Given the description of an element on the screen output the (x, y) to click on. 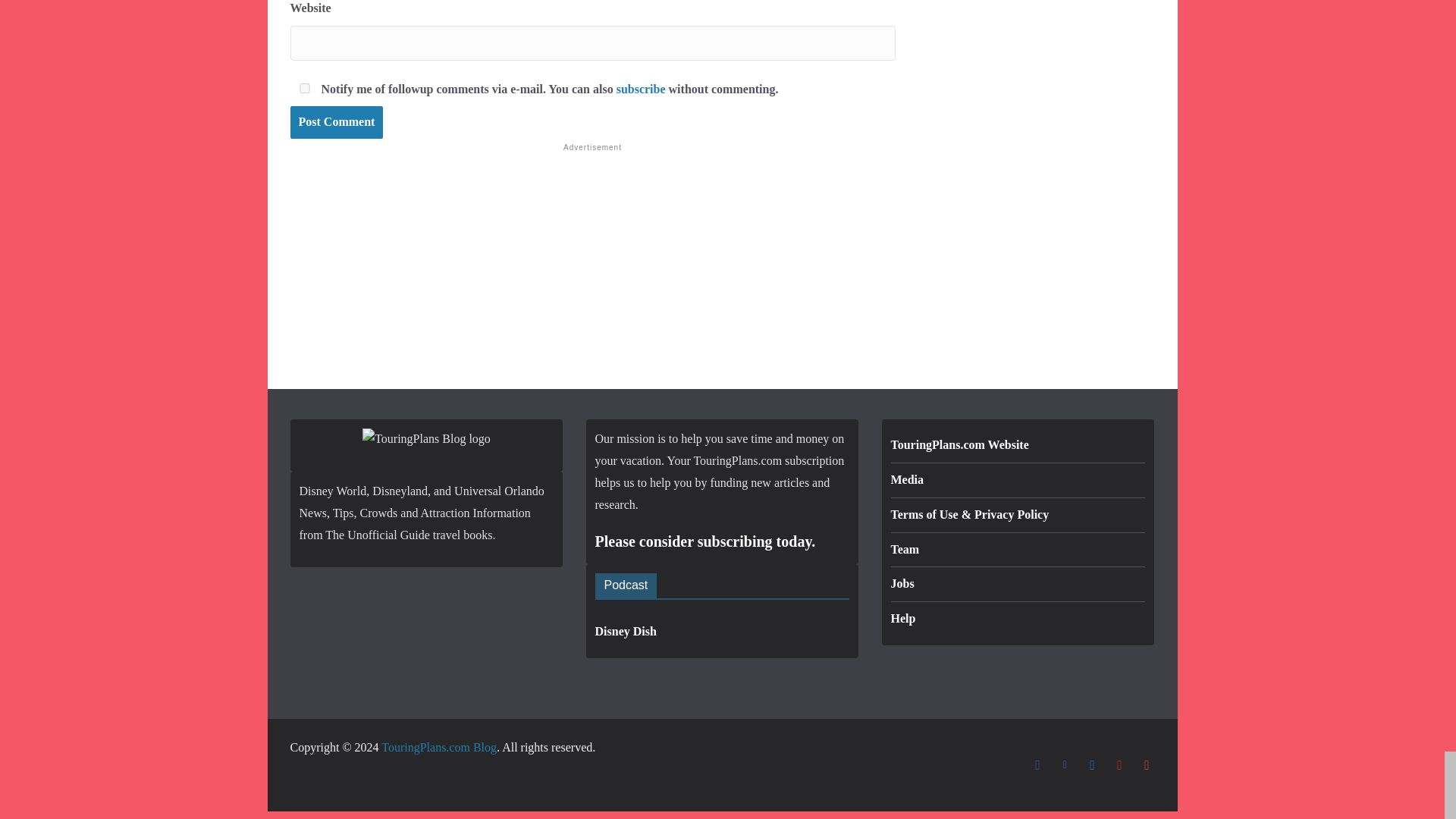
yes (303, 88)
TouringPlans.com Blog (438, 747)
Post Comment (335, 122)
